Given the description of an element on the screen output the (x, y) to click on. 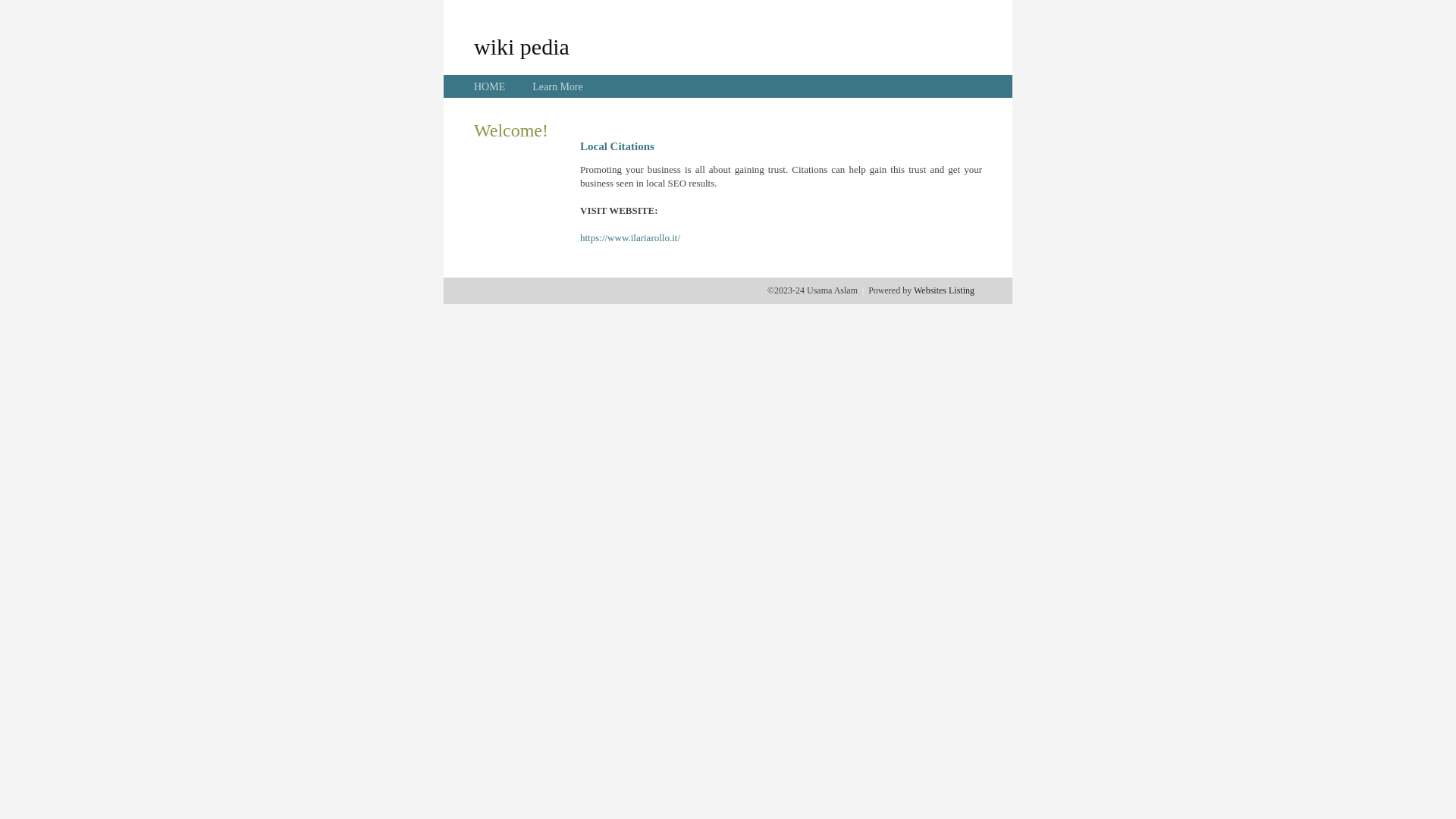
wiki pedia Element type: text (521, 46)
https://www.ilariarollo.it/ Element type: text (630, 237)
Learn More Element type: text (557, 86)
Websites Listing Element type: text (943, 290)
HOME Element type: text (489, 86)
